Given the description of an element on the screen output the (x, y) to click on. 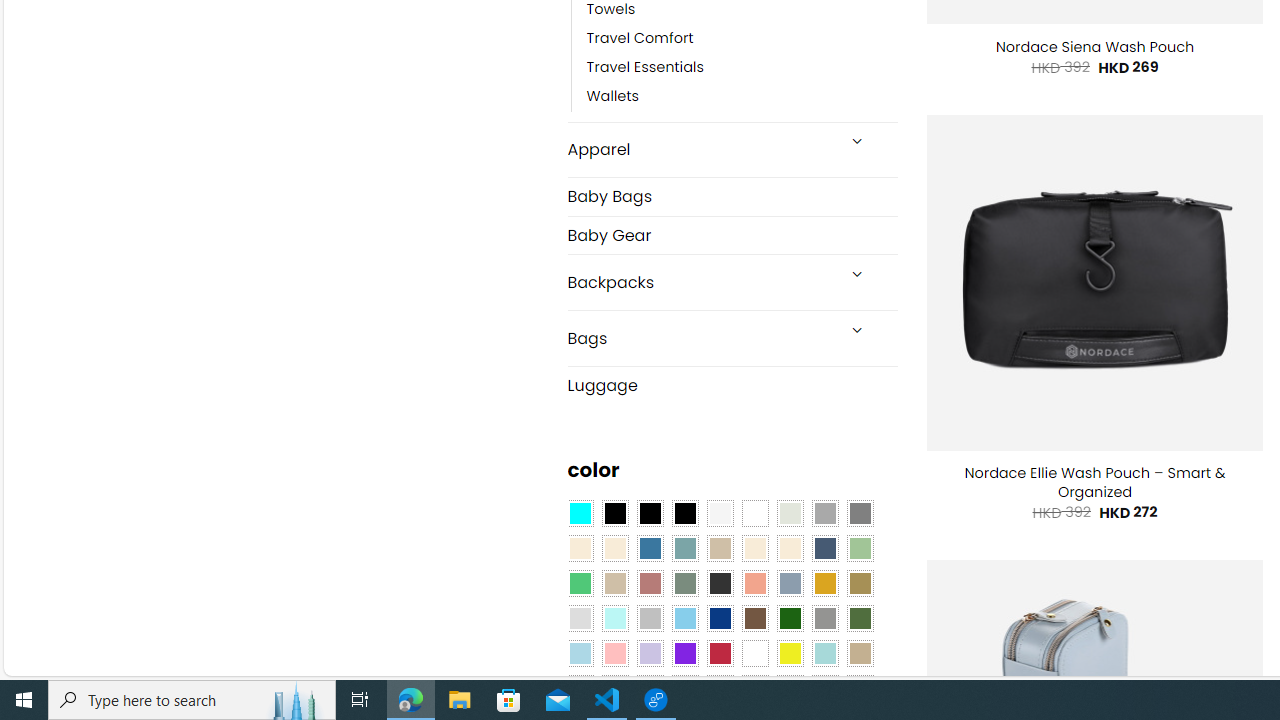
Mint (614, 619)
Dusty Blue (789, 583)
Emerald Green (579, 583)
Apparel (700, 150)
Baby Bags (732, 196)
Blue Sage (684, 548)
Beige (579, 548)
Kelp (859, 583)
Sky Blue (684, 619)
Blue (650, 548)
Baby Gear (732, 234)
Black (650, 514)
Green (859, 619)
Khaki (859, 653)
